Given the description of an element on the screen output the (x, y) to click on. 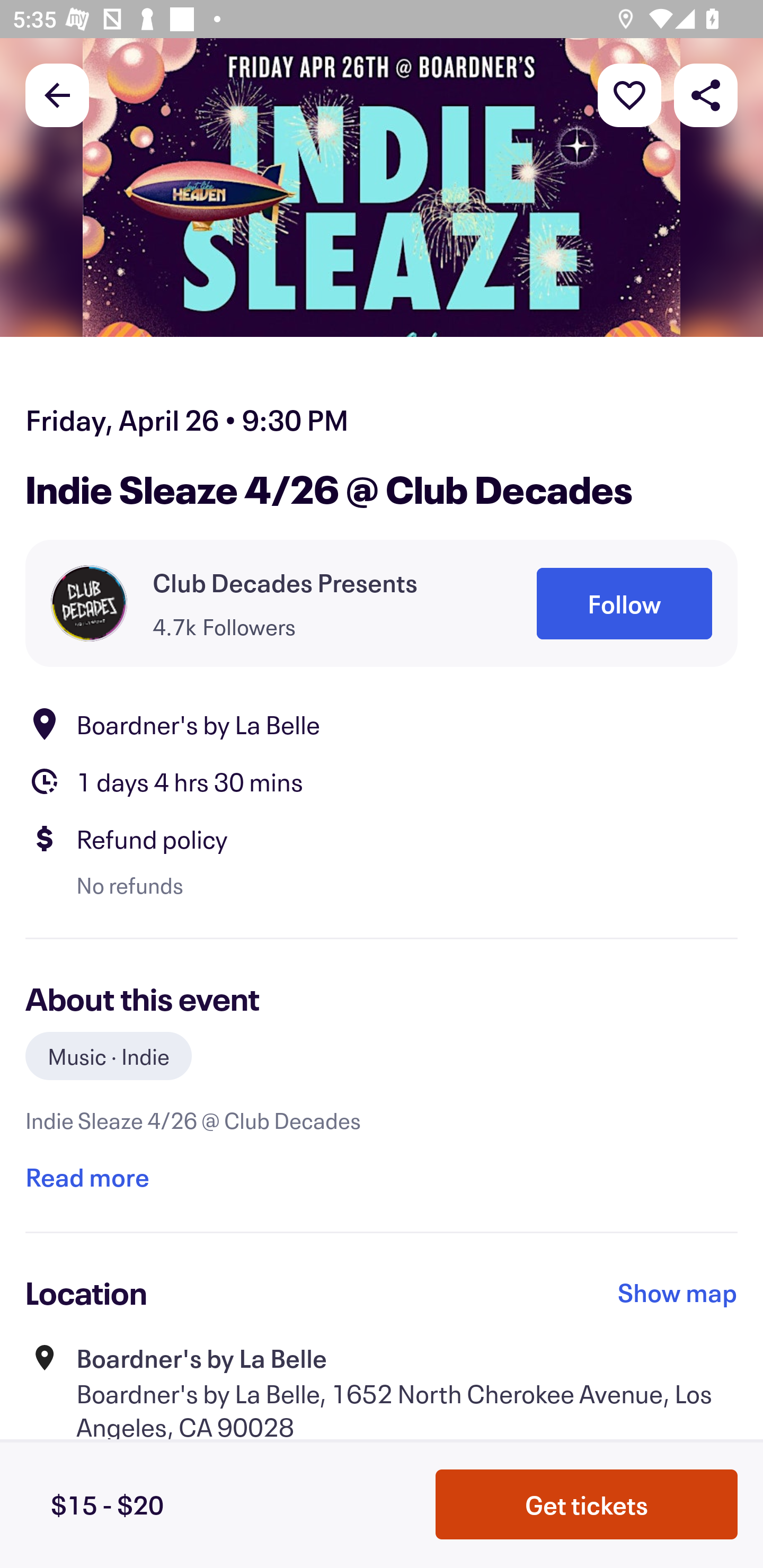
Back (57, 94)
More (629, 94)
Share (705, 94)
Club Decades Presents (284, 582)
Organizer profile picture (89, 602)
Follow (623, 603)
Location Boardner's by La Belle (381, 724)
Read more (87, 1176)
Show map (677, 1292)
Get tickets (586, 1504)
